Given the description of an element on the screen output the (x, y) to click on. 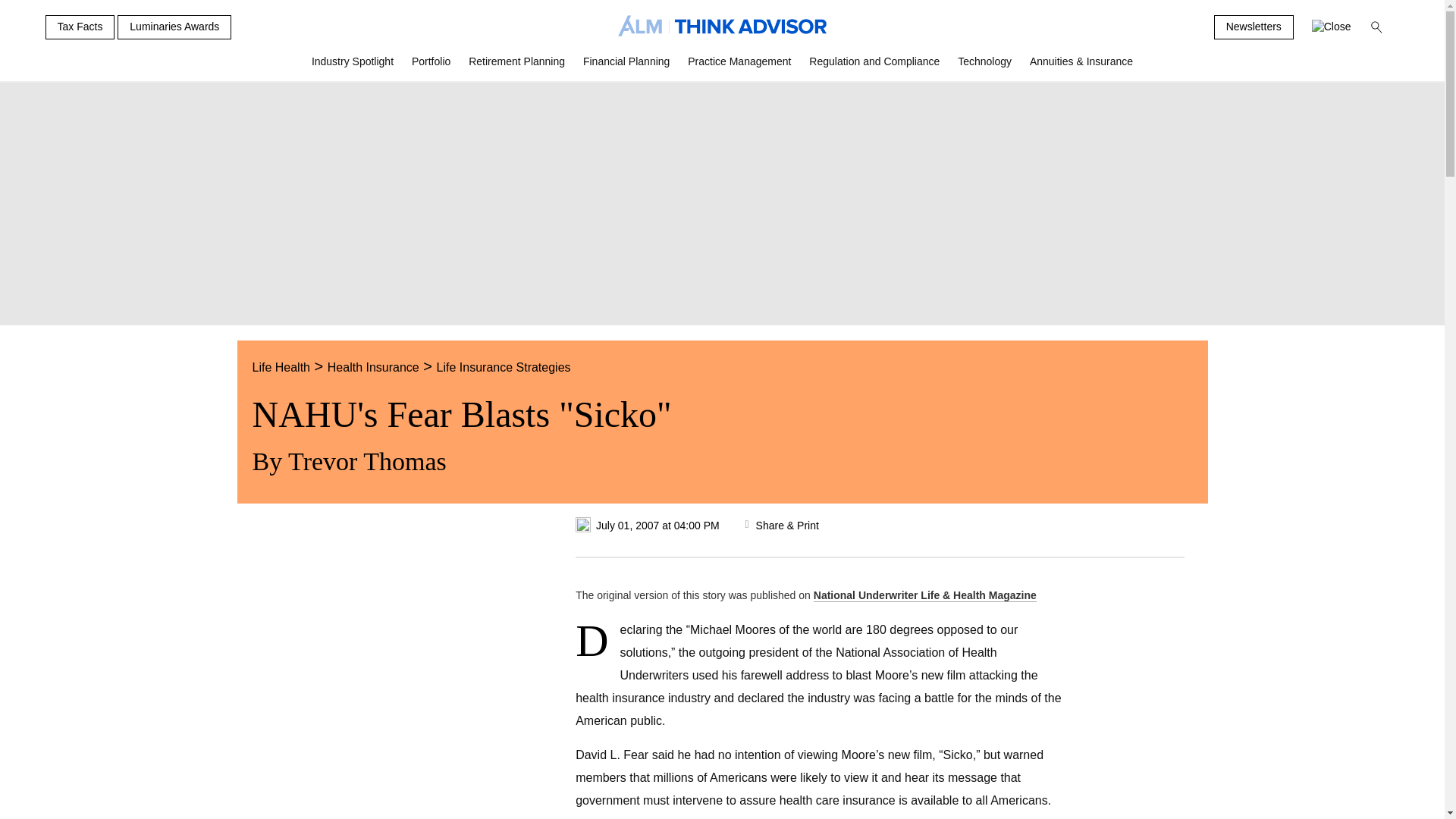
Newsletters (1254, 27)
Industry Spotlight (352, 67)
Luminaries Awards (174, 27)
Tax Facts (80, 27)
